Given the description of an element on the screen output the (x, y) to click on. 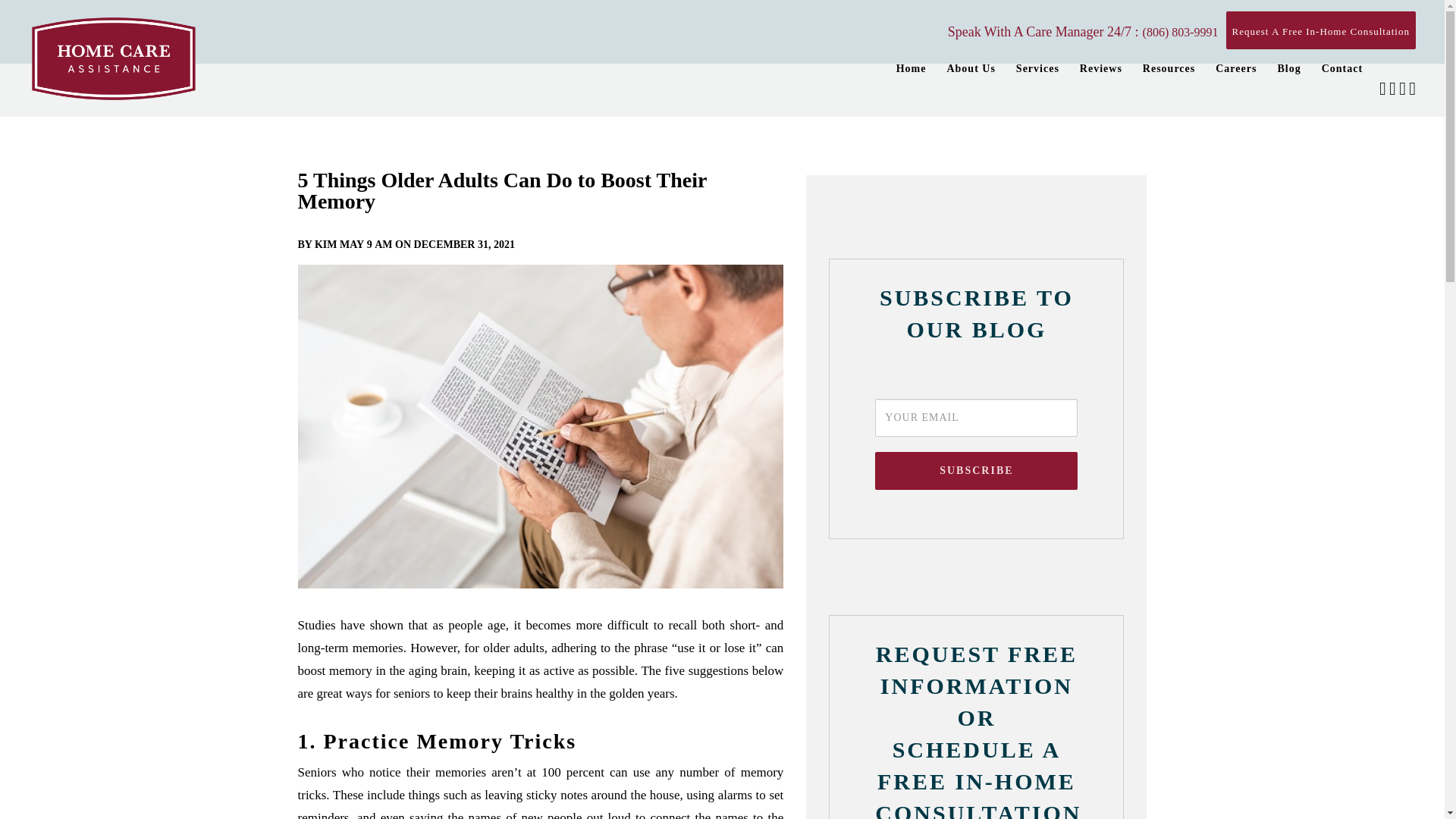
Request A Free In-Home Consultation (1320, 30)
Resources (1168, 68)
Reviews (1101, 68)
Home (911, 68)
Services (1037, 68)
Careers (1235, 68)
About Us (970, 68)
Subscribe (976, 470)
